Given the description of an element on the screen output the (x, y) to click on. 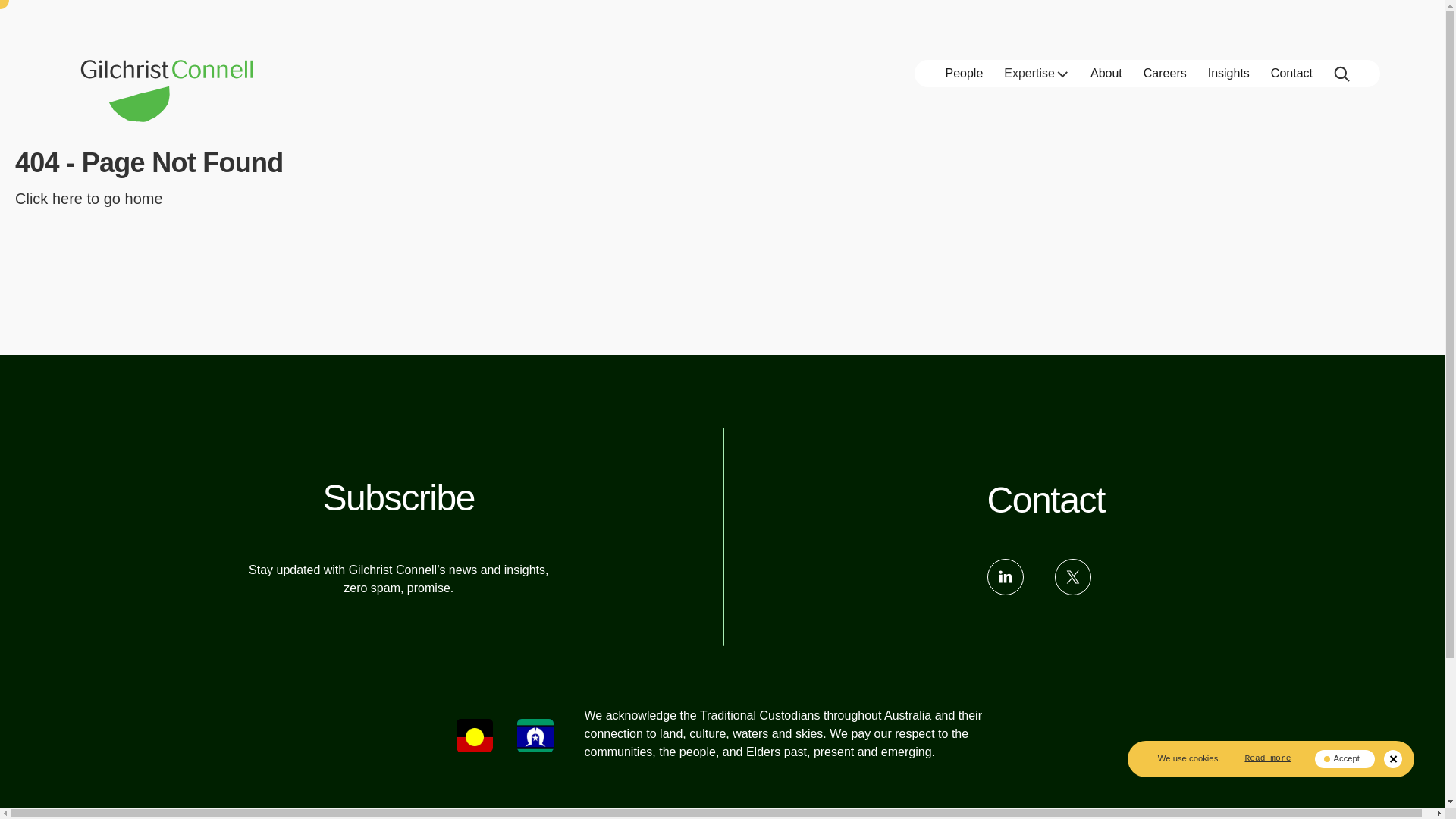
About (1106, 73)
Contact (1292, 73)
Accept (1344, 759)
Subscribe (399, 497)
Read more (1267, 758)
Click here to go home (88, 198)
Expertise (1036, 73)
Contact (1046, 500)
Insights (1228, 73)
People (963, 73)
